Given the description of an element on the screen output the (x, y) to click on. 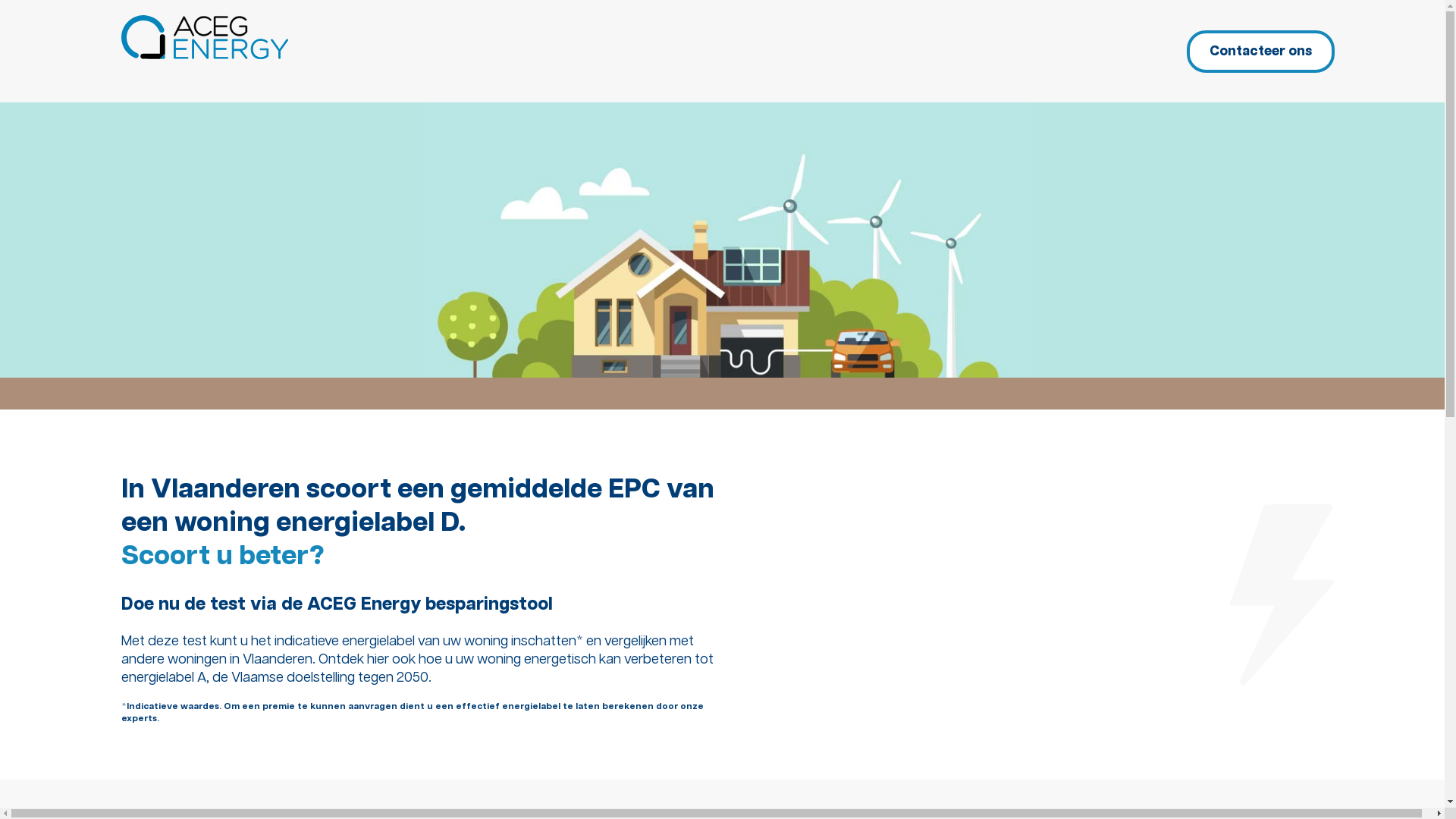
Contacteer ons Element type: text (1260, 51)
